Given the description of an element on the screen output the (x, y) to click on. 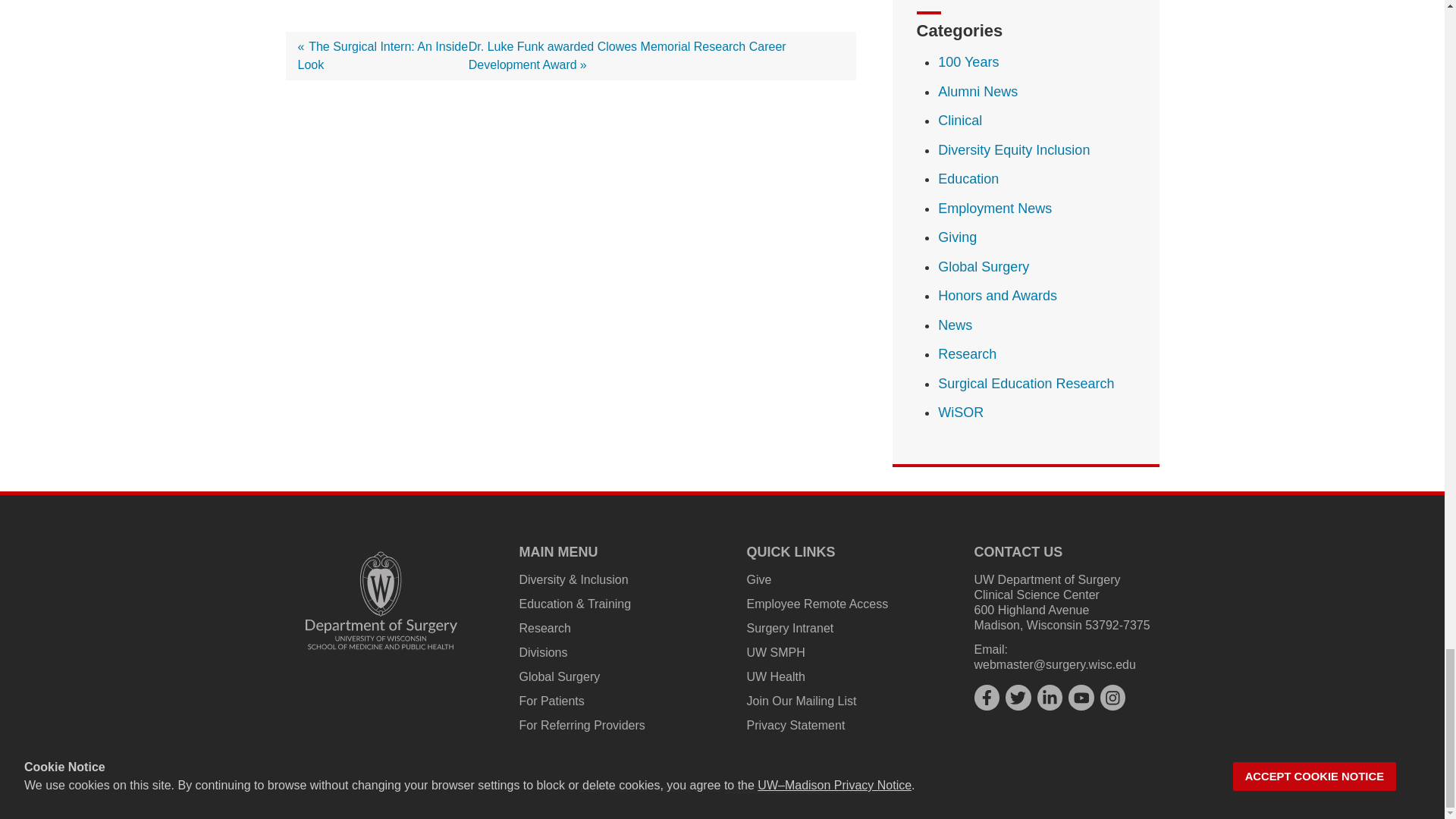
Department of Surgery (380, 600)
Department of Surgery (380, 600)
facebook (986, 697)
twitter (1018, 697)
youtube (1081, 697)
linkedin (1049, 697)
instagram (1113, 697)
